Given the description of an element on the screen output the (x, y) to click on. 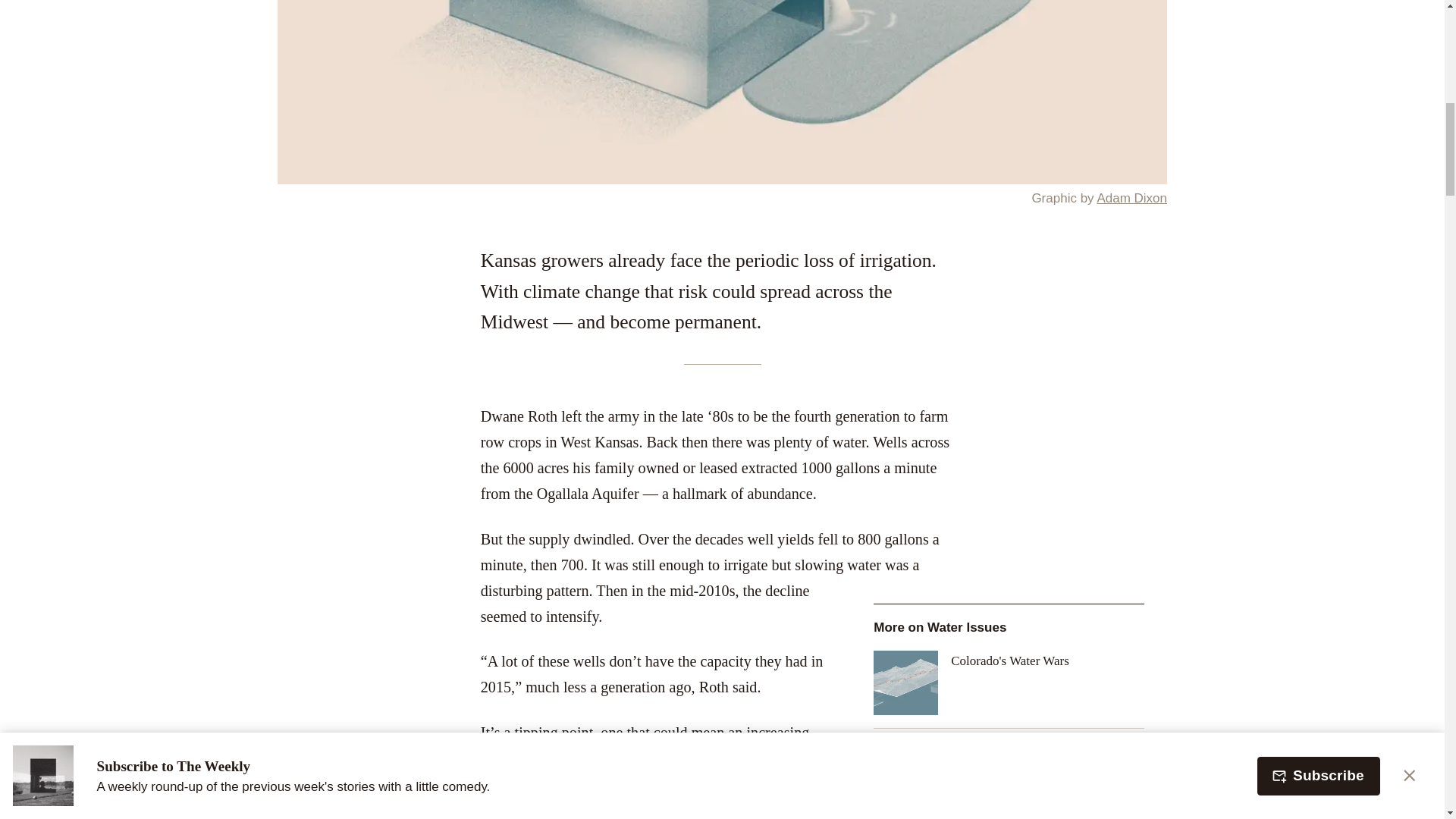
Colorado's Water Wars (1008, 682)
Adam Dixon (1131, 197)
How to Unbraid a River (1008, 773)
